Given the description of an element on the screen output the (x, y) to click on. 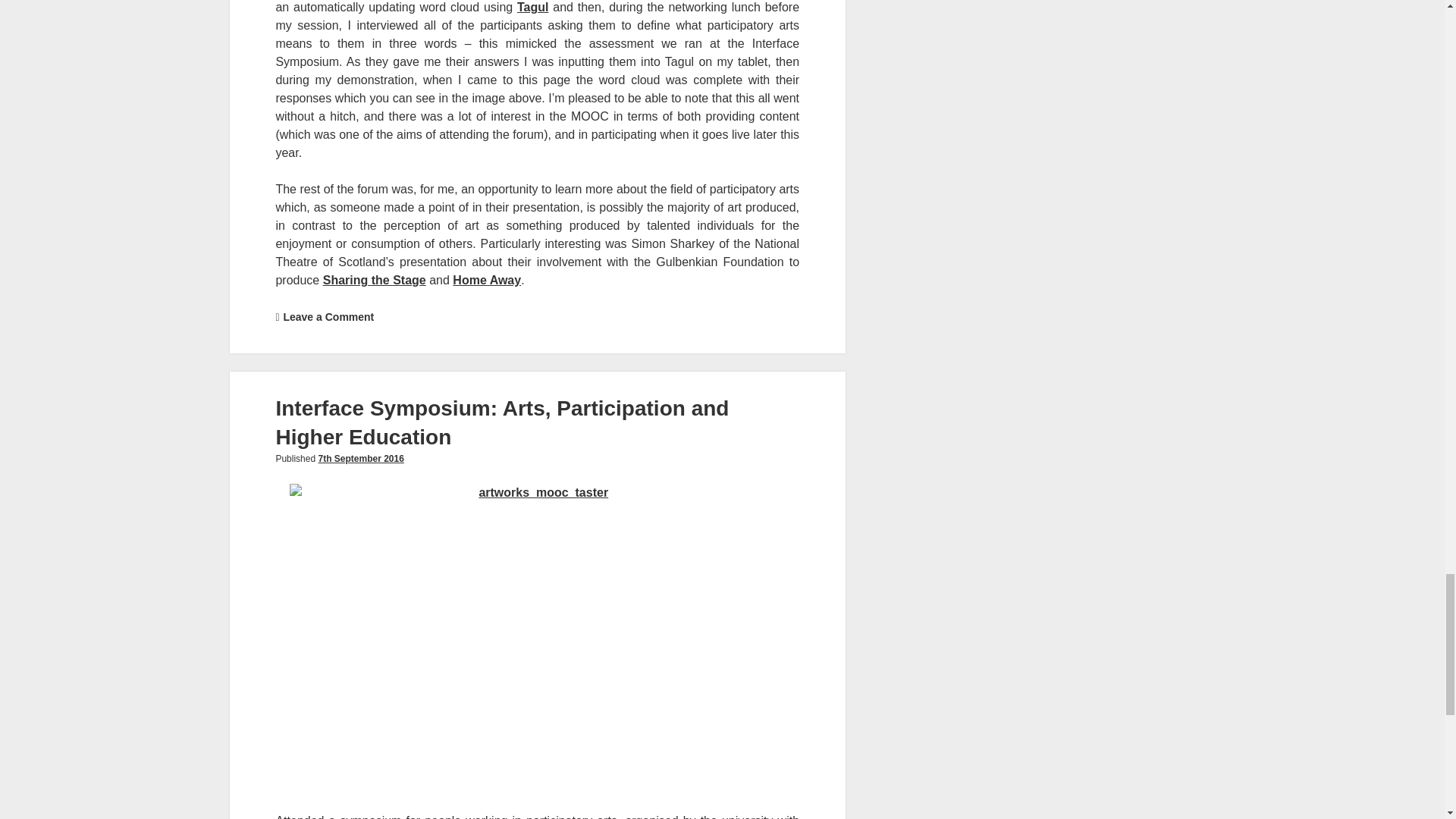
comment icon (277, 317)
Sharing the Stage (374, 279)
Home Away (486, 279)
Leave a Comment (328, 316)
Tagul (532, 6)
